Given the description of an element on the screen output the (x, y) to click on. 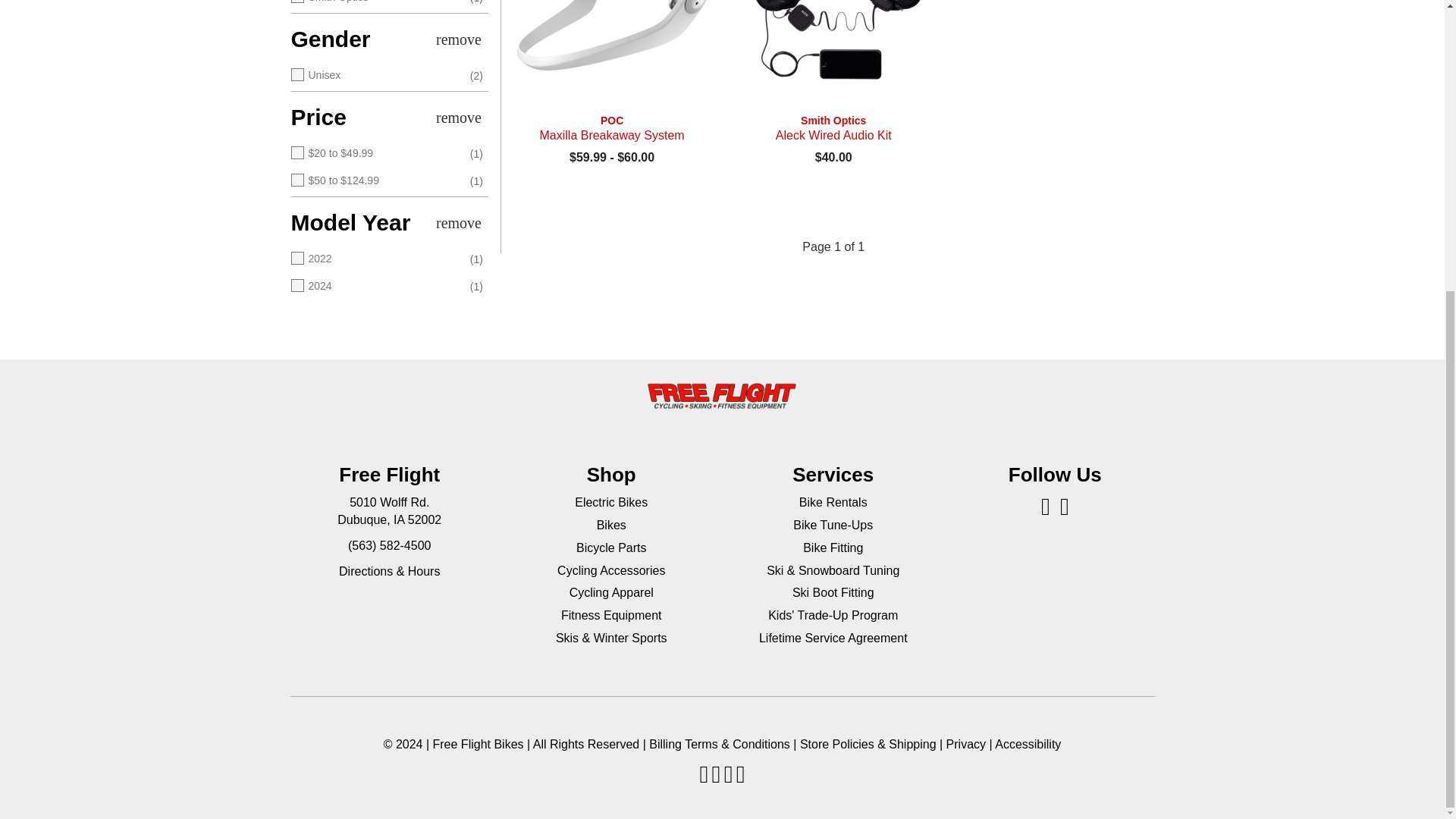
Smith Optics Aleck Wired Audio Kit (833, 56)
Smith Optics Aleck Wired Audio Kit (833, 128)
POC Maxilla Breakaway System (611, 128)
POC Maxilla Breakaway System (611, 56)
